Given the description of an element on the screen output the (x, y) to click on. 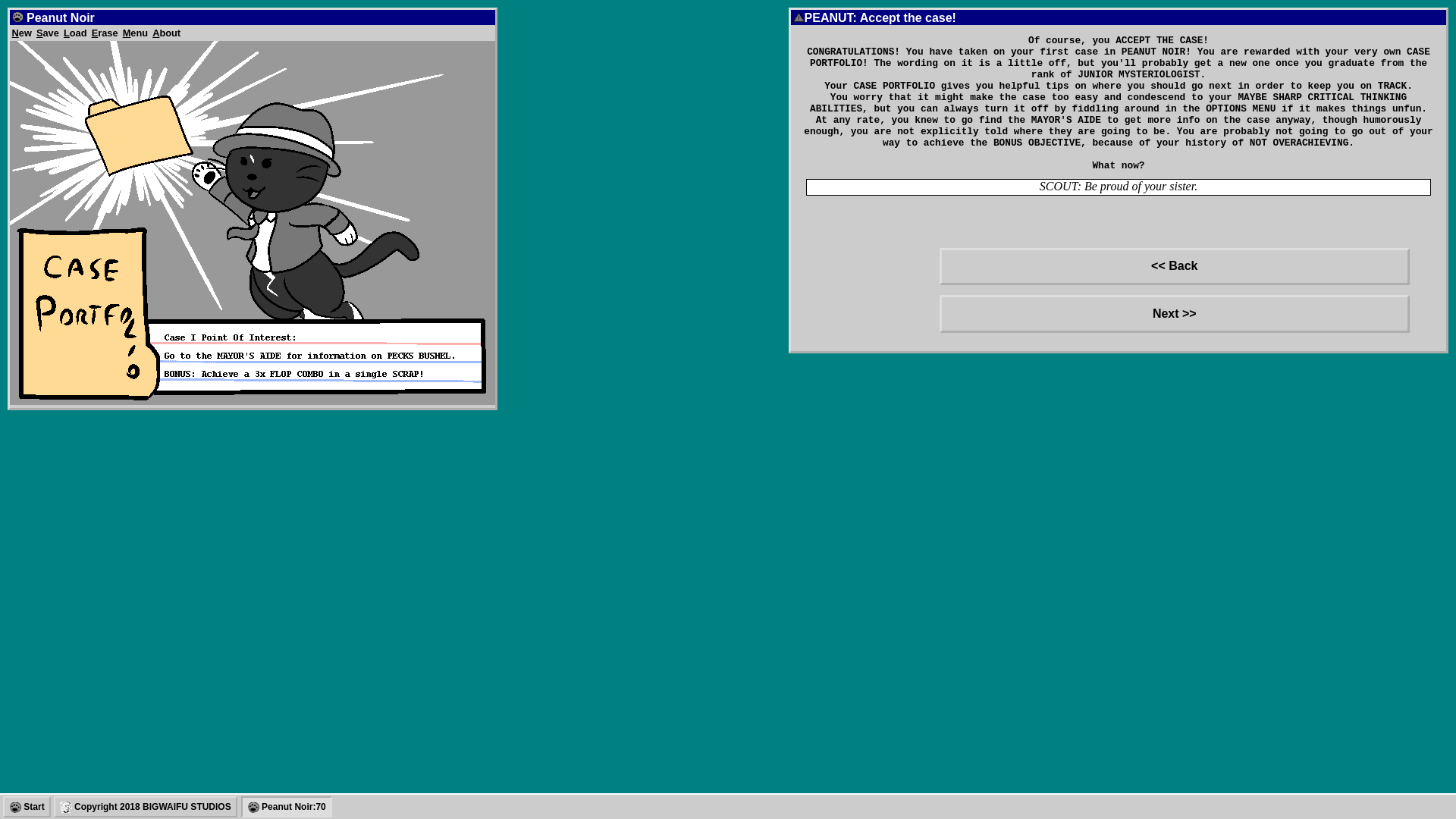
New (21, 32)
Erase (104, 32)
About (166, 32)
Load (75, 32)
Save (47, 32)
Menu (135, 32)
